Given the description of an element on the screen output the (x, y) to click on. 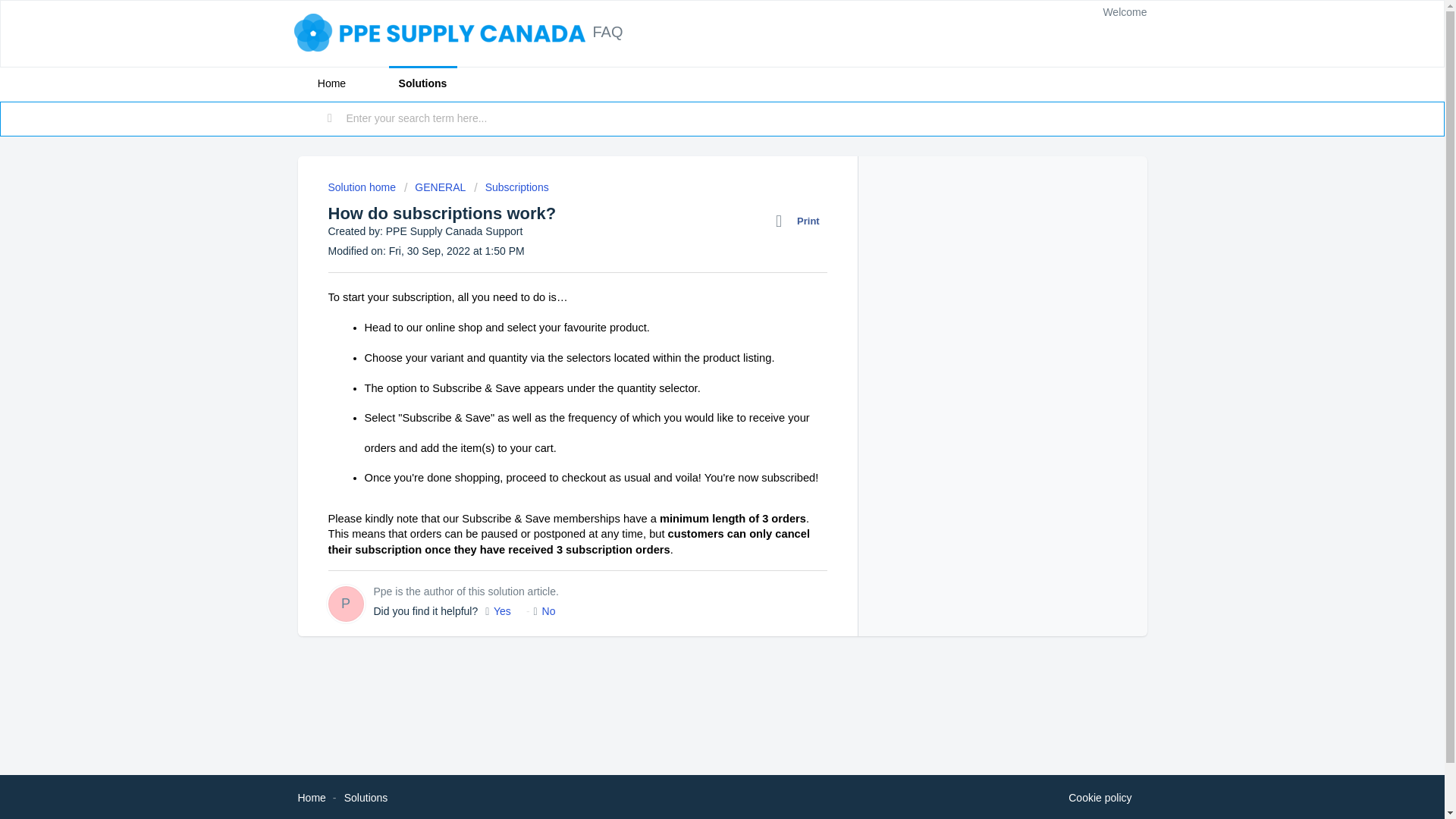
Cookie policy (1099, 798)
Print (801, 220)
Home (331, 83)
GENERAL (434, 186)
Solutions (422, 83)
Solution home (362, 186)
Why we love Cookies (1099, 798)
Print this Article (801, 220)
Subscriptions (511, 186)
Solutions (365, 797)
Home (310, 797)
